Given the description of an element on the screen output the (x, y) to click on. 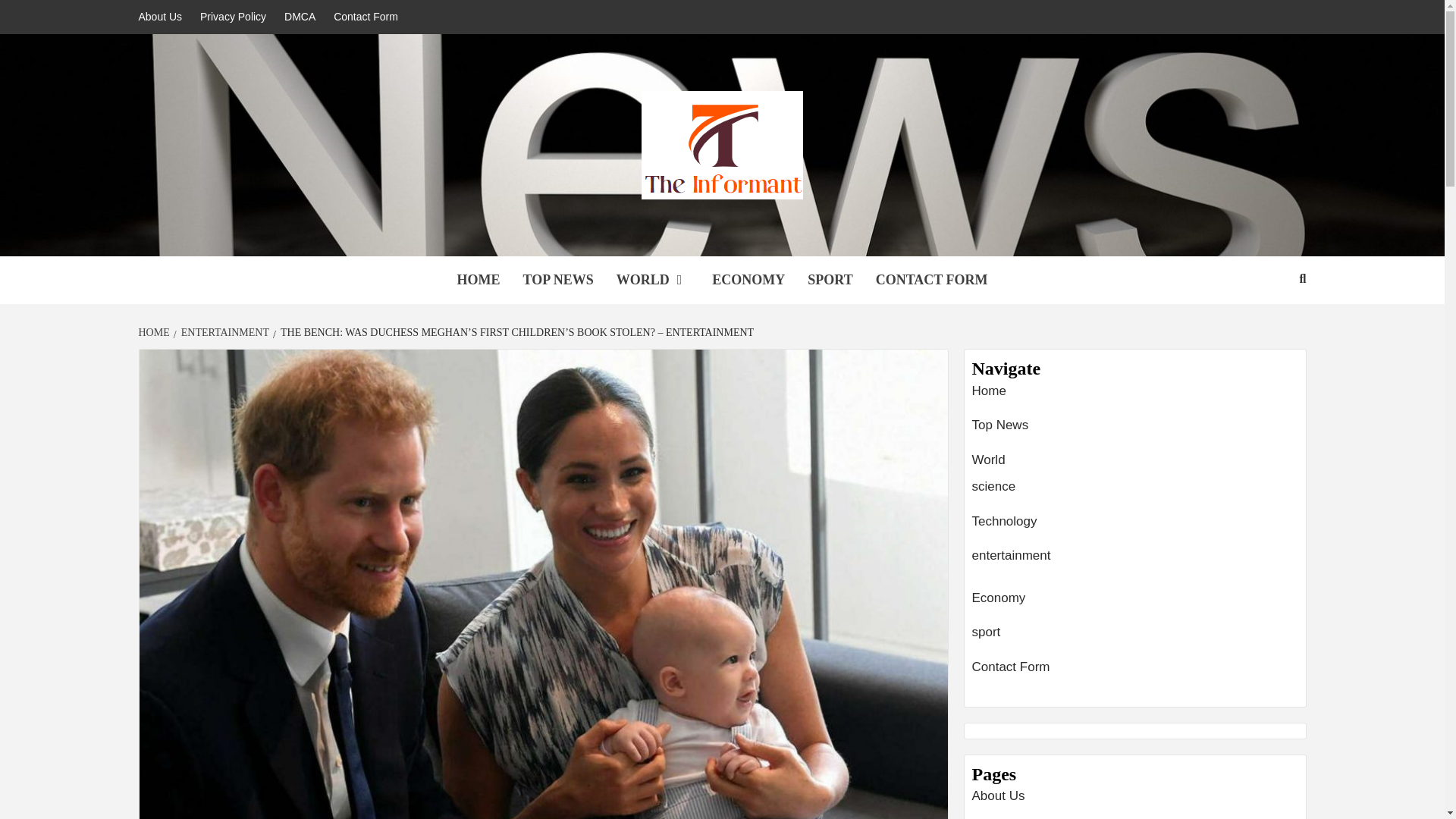
ECONOMY (748, 279)
HOME (155, 332)
Contact Form (366, 17)
DMCA (299, 17)
Privacy Policy (232, 17)
SPORT (829, 279)
About Us (163, 17)
THE INFORMANT (469, 236)
WORLD (653, 279)
HOME (478, 279)
CONTACT FORM (931, 279)
ENTERTAINMENT (223, 332)
TOP NEWS (557, 279)
